Given the description of an element on the screen output the (x, y) to click on. 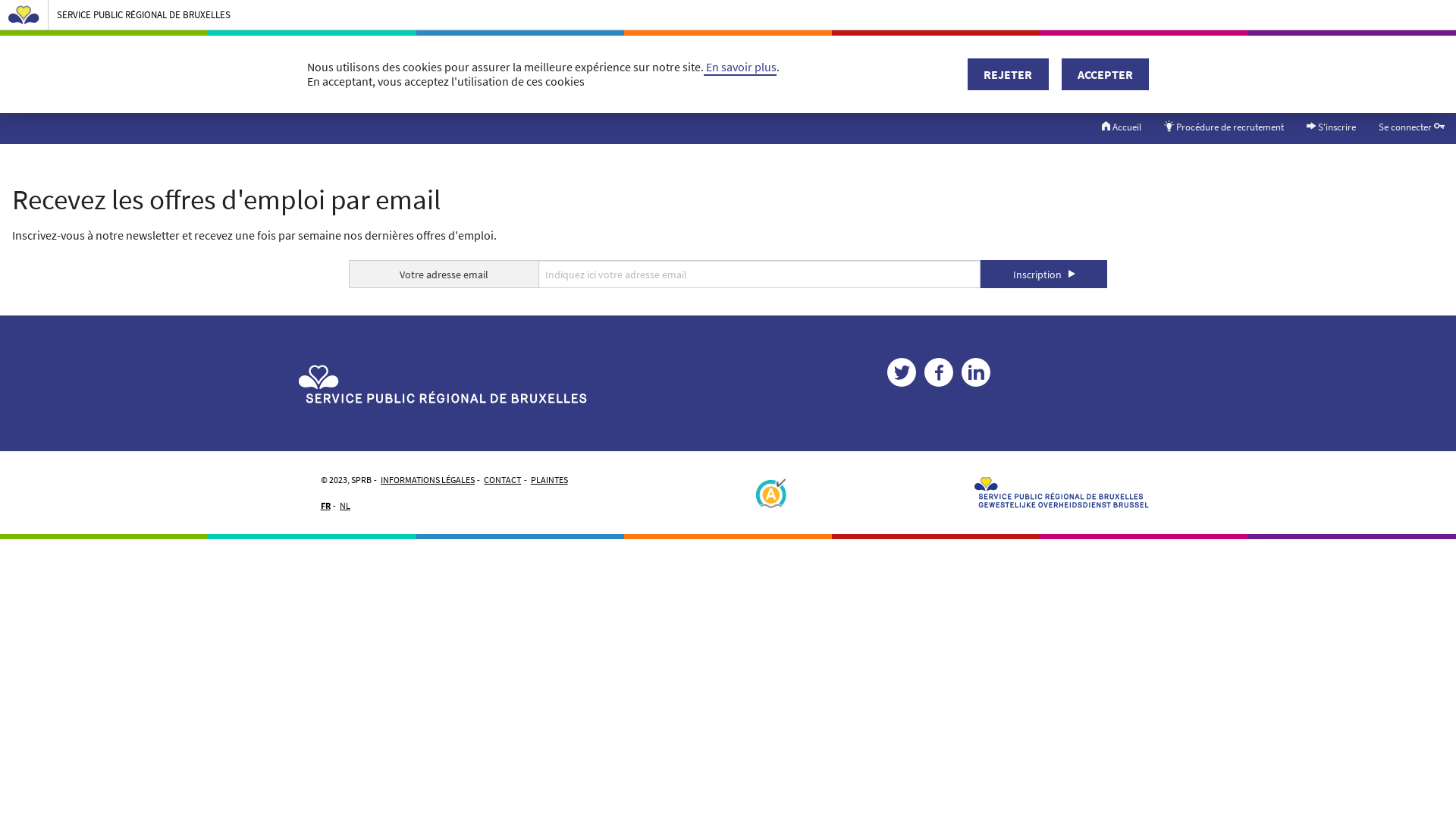
NL Element type: text (344, 505)
PLAINTES Element type: text (548, 479)
Inscription    Element type: text (1043, 274)
Nl Element type: text (1090, 75)
FR Element type: text (325, 505)
LinkedIn Element type: text (975, 371)
REJETER Element type: text (1007, 74)
Facebook Element type: text (938, 371)
Fr Element type: text (1067, 75)
Accueil Element type: text (1121, 126)
Twitter Element type: text (901, 371)
ACCEPTER Element type: text (1104, 74)
CONTACT Element type: text (501, 479)
En savoir plus Element type: text (739, 67)
S'inscrire Element type: text (1331, 126)
